Given the description of an element on the screen output the (x, y) to click on. 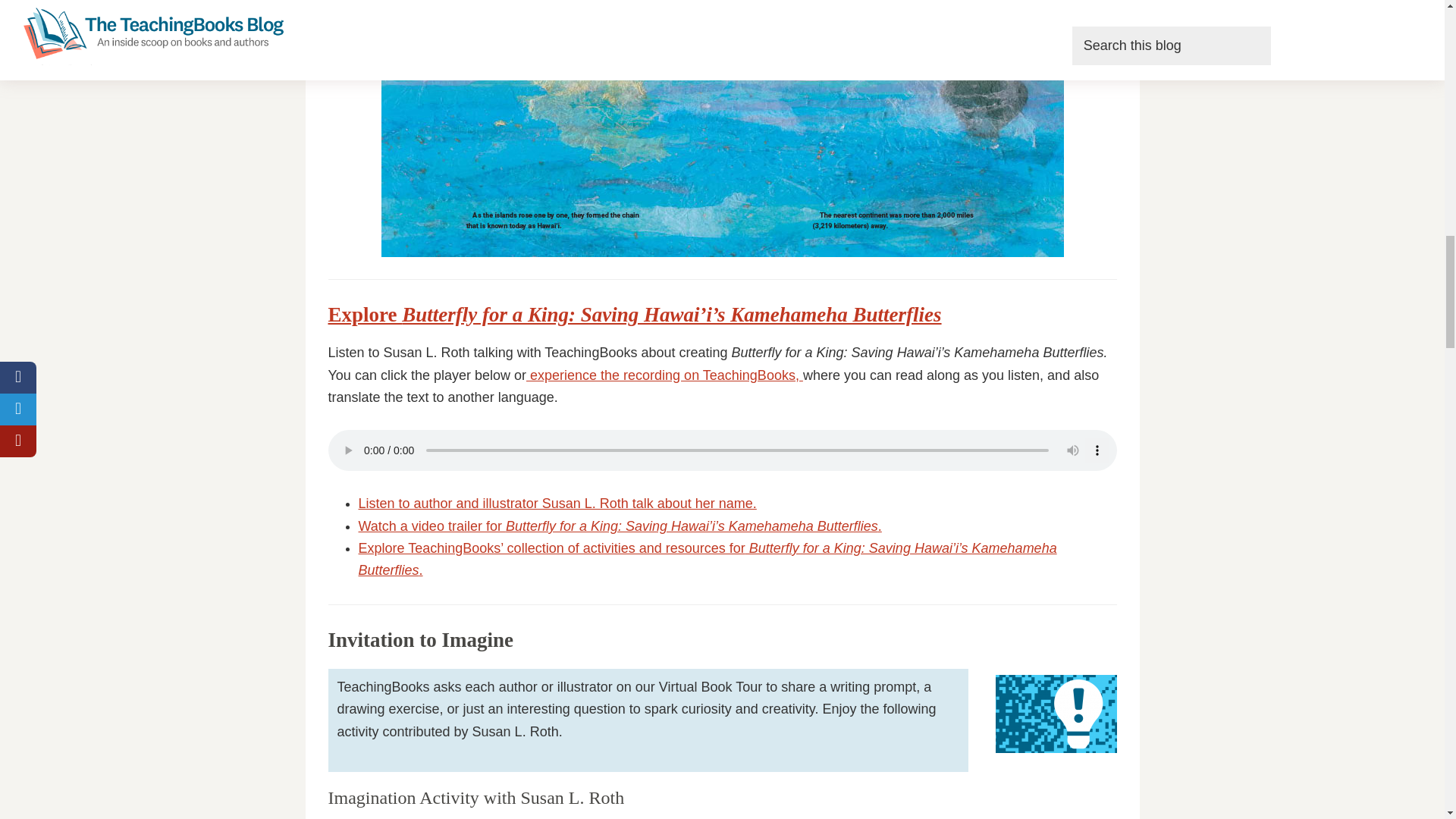
experience the recording on TeachingBooks, (666, 375)
